Given the description of an element on the screen output the (x, y) to click on. 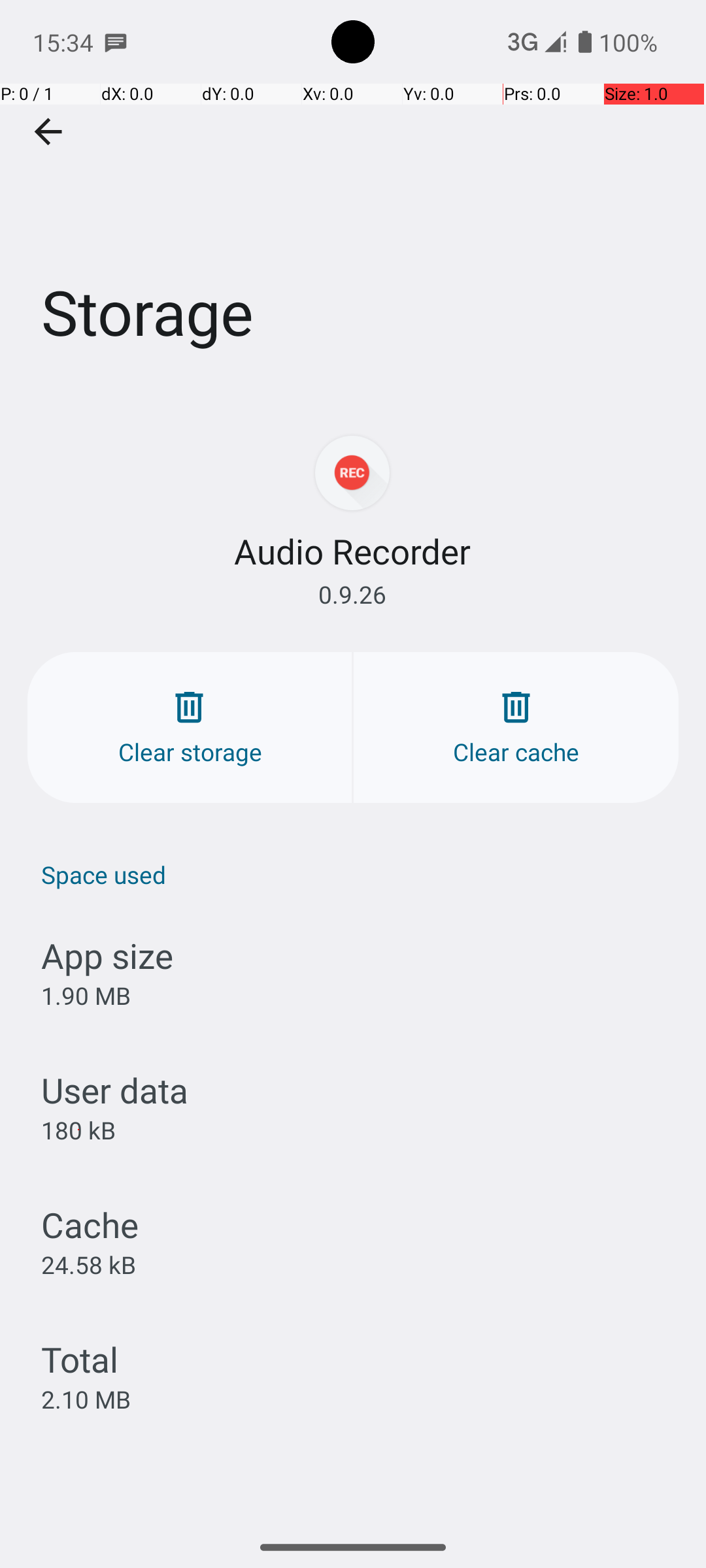
0.9.26 Element type: android.widget.TextView (352, 593)
Clear storage Element type: android.widget.Button (189, 727)
Clear cache Element type: android.widget.Button (515, 727)
Space used Element type: android.widget.TextView (359, 874)
App size Element type: android.widget.TextView (107, 955)
1.90 MB Element type: android.widget.TextView (85, 995)
User data Element type: android.widget.TextView (114, 1089)
180 kB Element type: android.widget.TextView (78, 1129)
Cache Element type: android.widget.TextView (89, 1224)
24.58 kB Element type: android.widget.TextView (88, 1264)
Total Element type: android.widget.TextView (79, 1359)
2.10 MB Element type: android.widget.TextView (85, 1398)
